Given the description of an element on the screen output the (x, y) to click on. 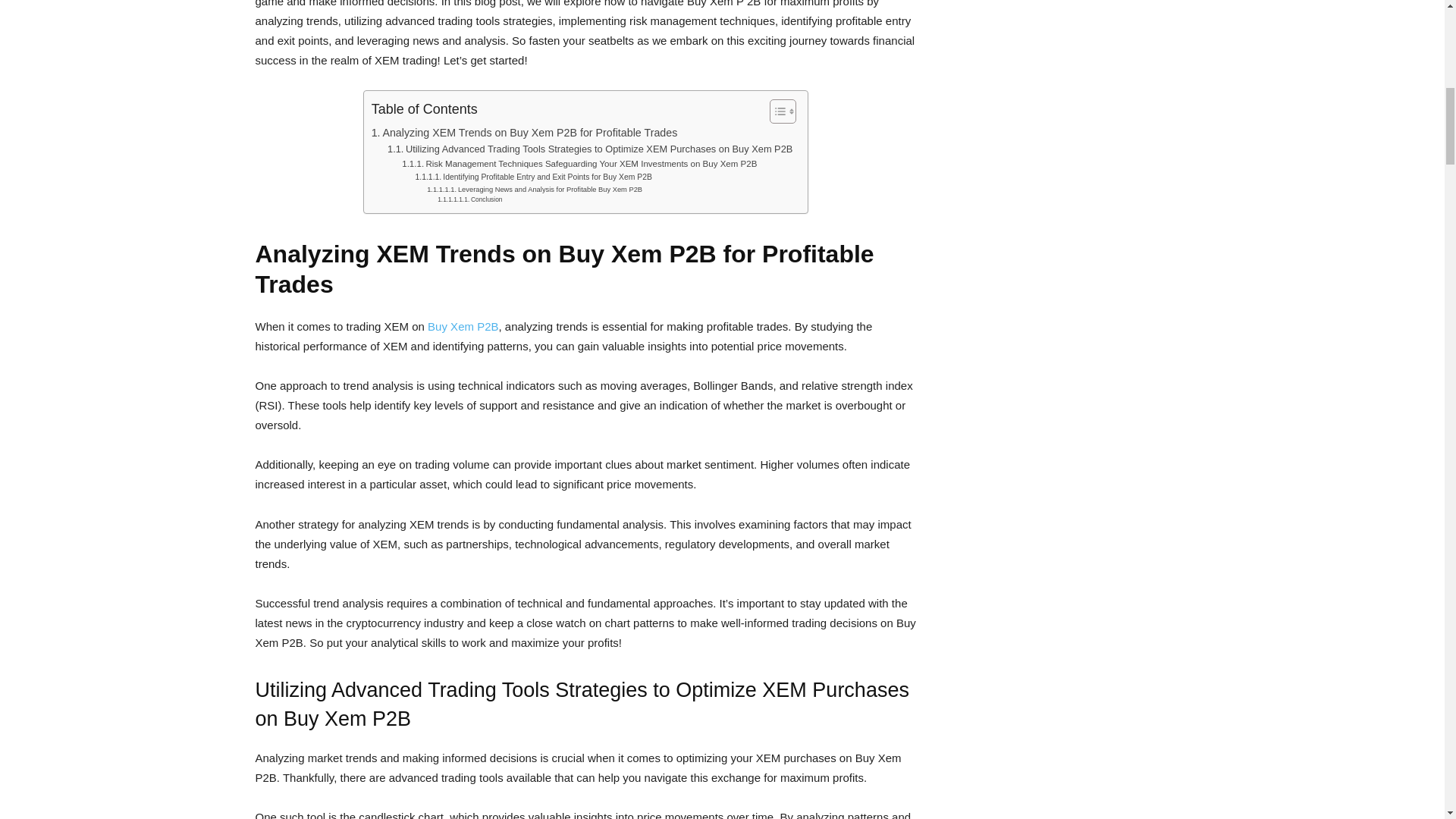
Identifying Profitable Entry and Exit Points for Buy Xem P2B (533, 177)
Identifying Profitable Entry and Exit Points for Buy Xem P2B (533, 177)
Analyzing XEM Trends on Buy Xem P2B for Profitable Trades (524, 132)
Analyzing XEM Trends on Buy Xem P2B for Profitable Trades (524, 132)
